Given the description of an element on the screen output the (x, y) to click on. 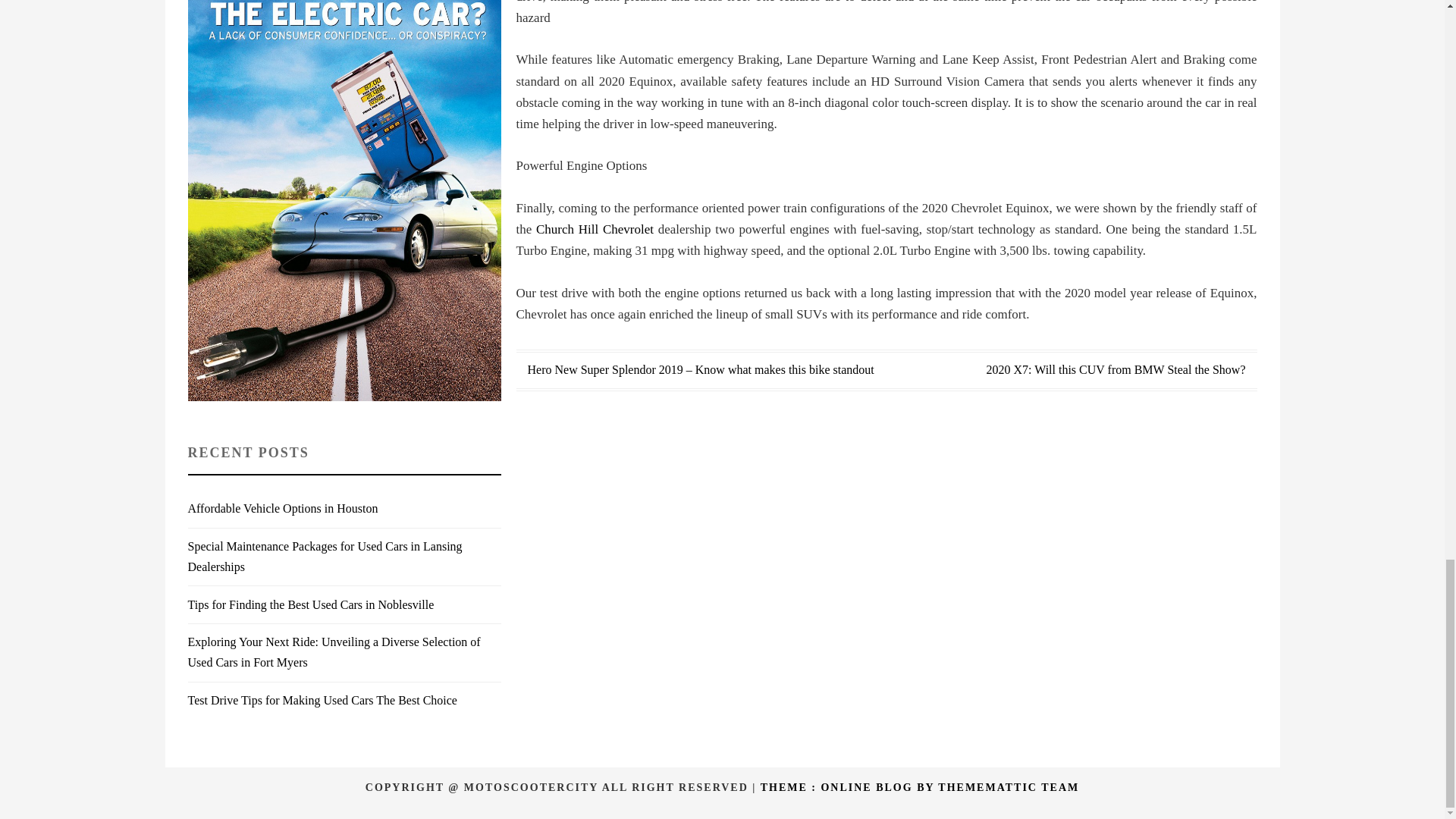
2020 X7: Will this CUV from BMW Steal the Show? (1114, 369)
Church Hill Chevrolet (594, 228)
